Given the description of an element on the screen output the (x, y) to click on. 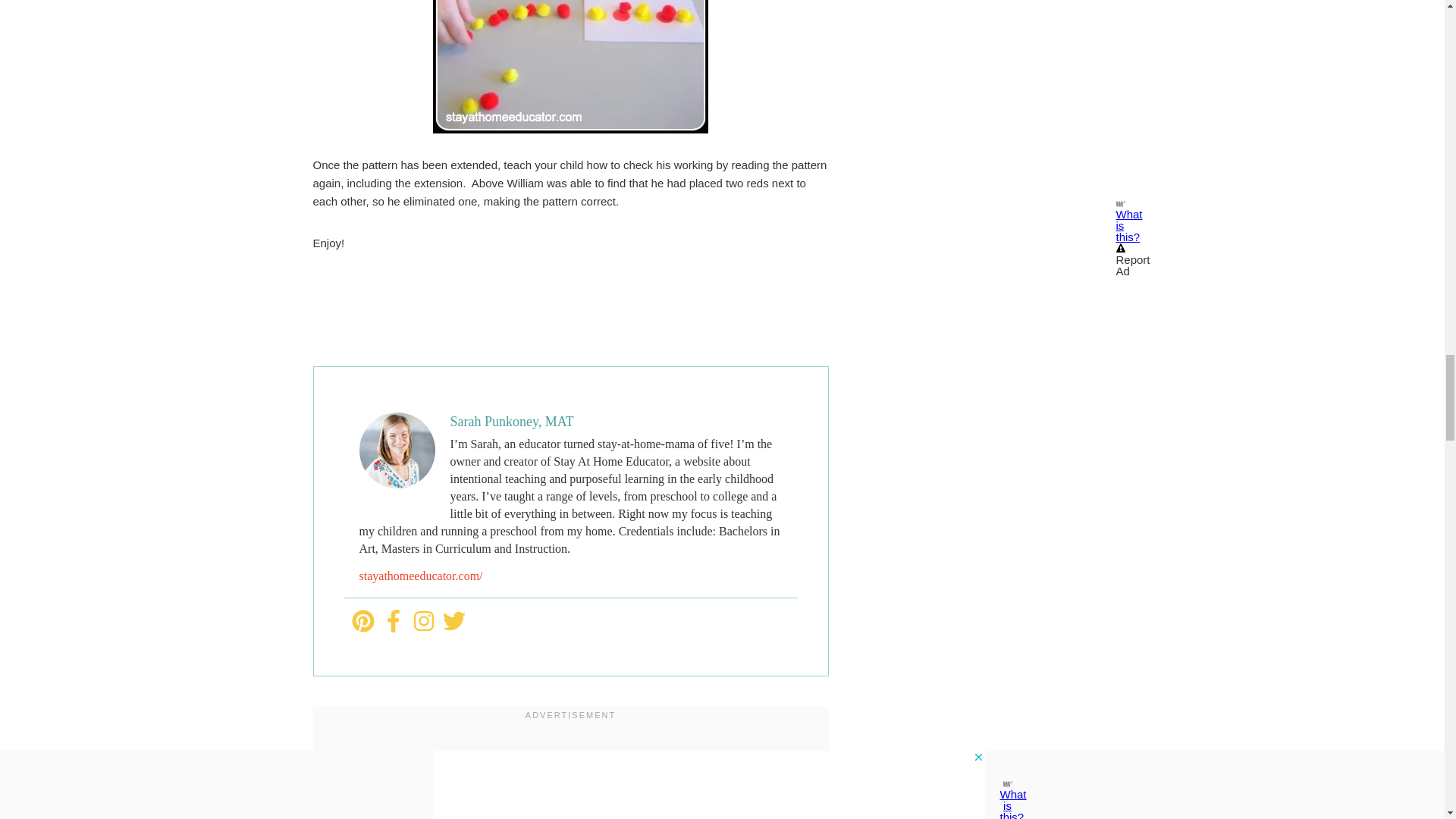
Instagram (423, 621)
Sarah Punkoney, MAT (511, 421)
Twitter (453, 621)
Pinterest (363, 621)
Facebook (392, 621)
Pattern Cards.4 (569, 66)
